Given the description of an element on the screen output the (x, y) to click on. 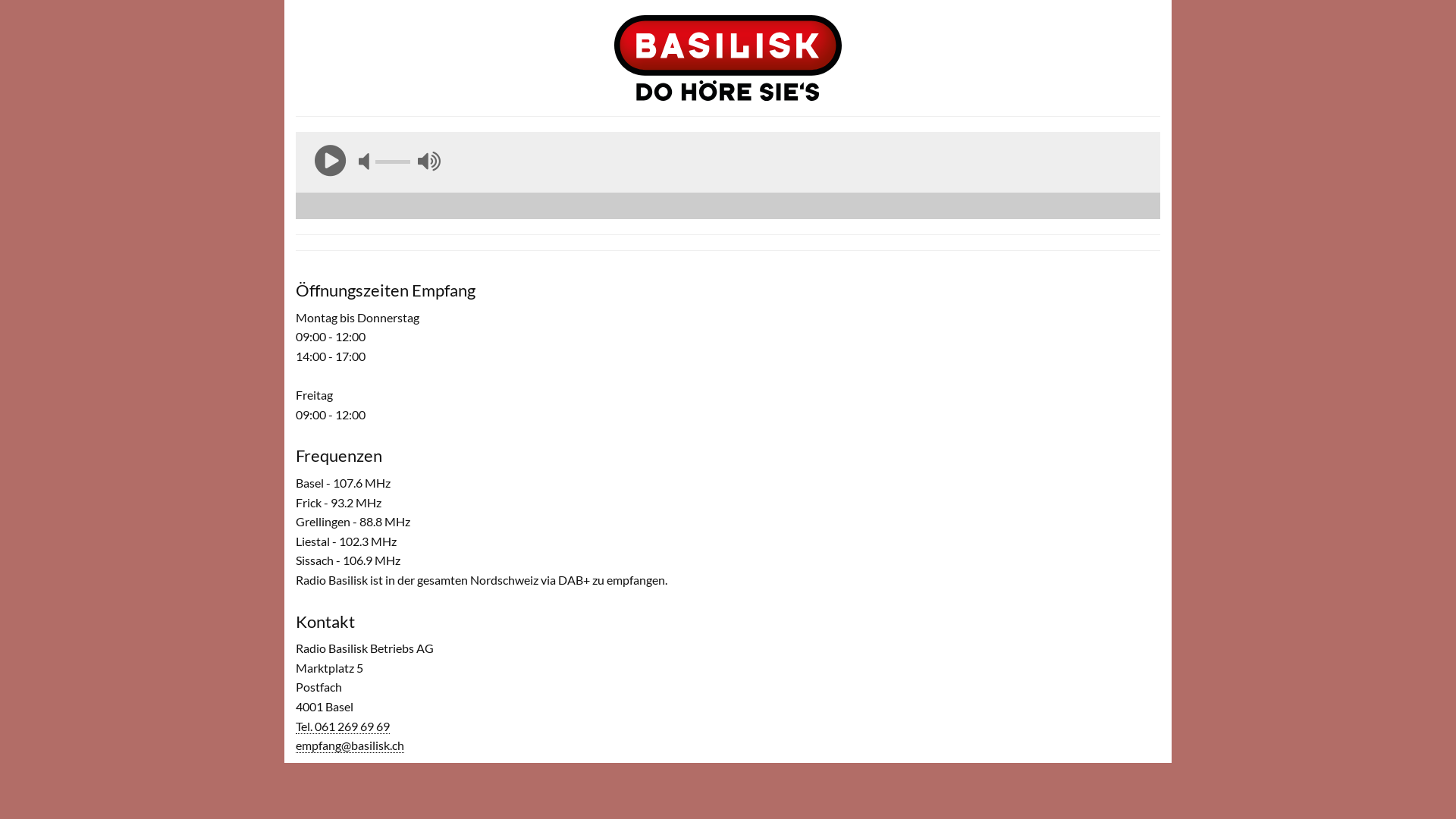
empfang@basilisk.ch Element type: text (349, 745)
Tel. 061 269 69 69 Element type: text (342, 726)
